Given the description of an element on the screen output the (x, y) to click on. 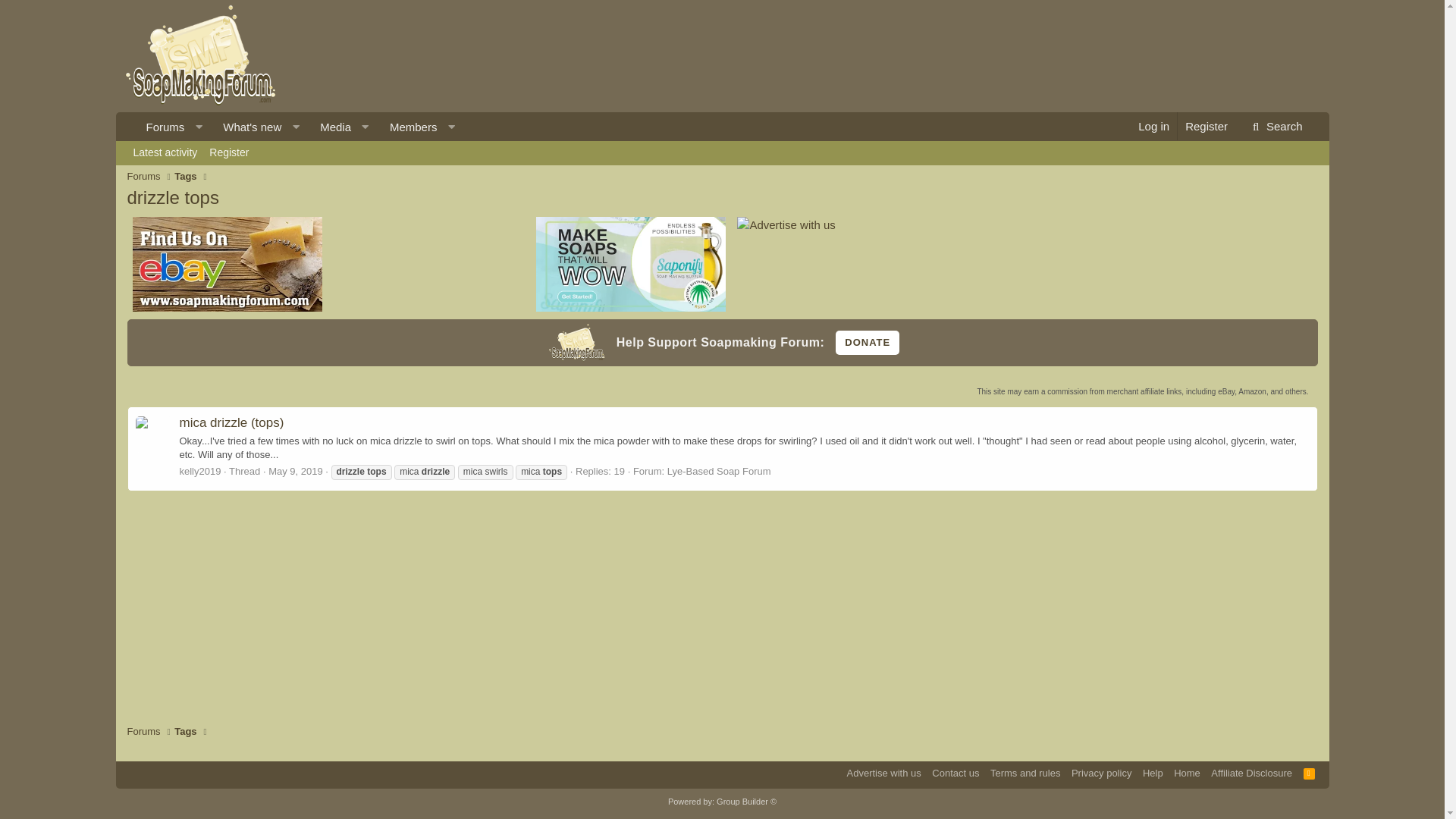
Forums (160, 126)
Latest activity (165, 152)
Register (228, 152)
What's new (246, 126)
Search (1275, 126)
May 9, 2019 at 11:56 AM (295, 471)
Forums (144, 176)
Members (299, 126)
Log in (299, 126)
RSS (408, 126)
Donate (722, 152)
Search (1153, 126)
